Given the description of an element on the screen output the (x, y) to click on. 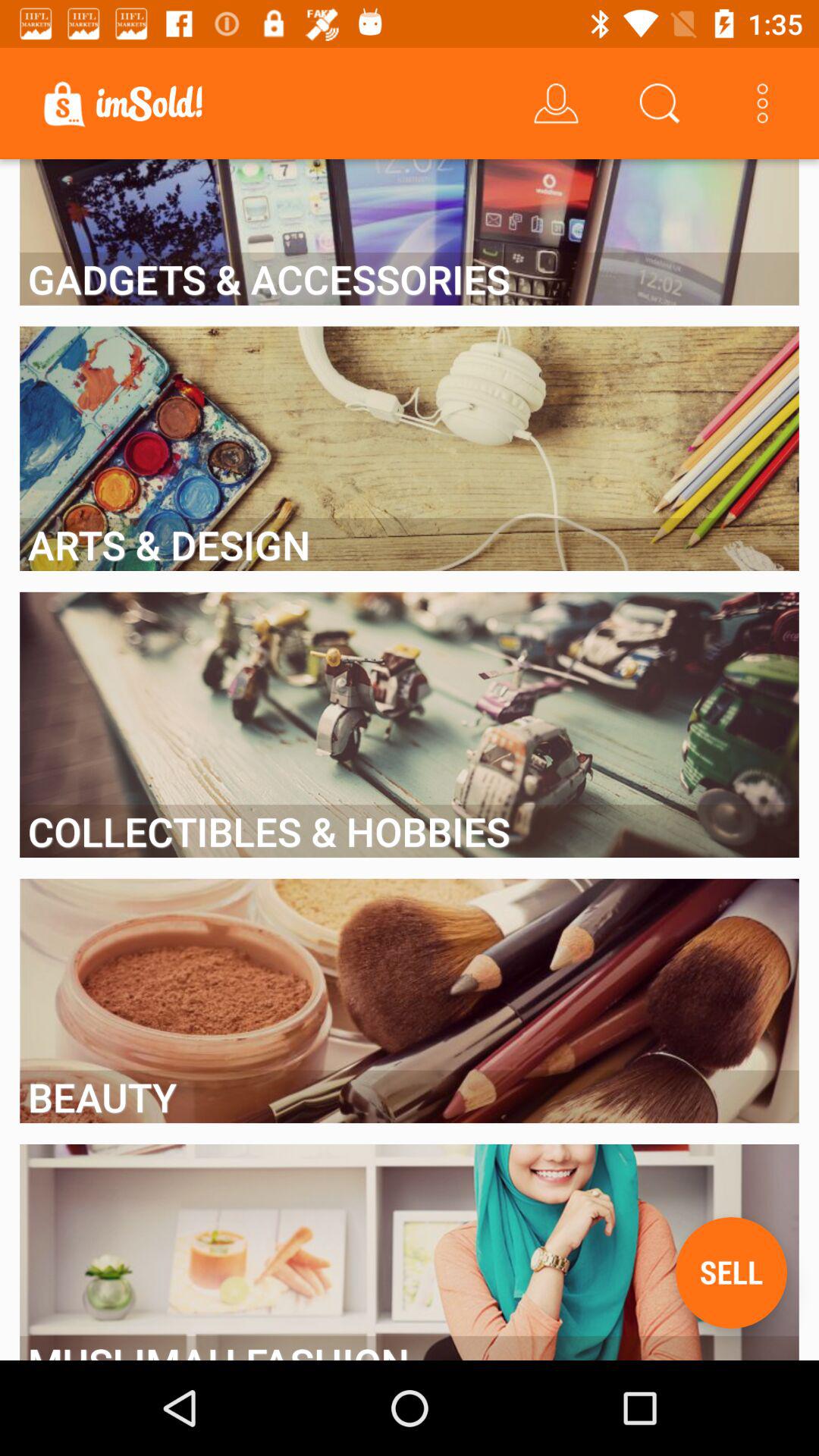
flip until muslimah fashion item (409, 1347)
